Given the description of an element on the screen output the (x, y) to click on. 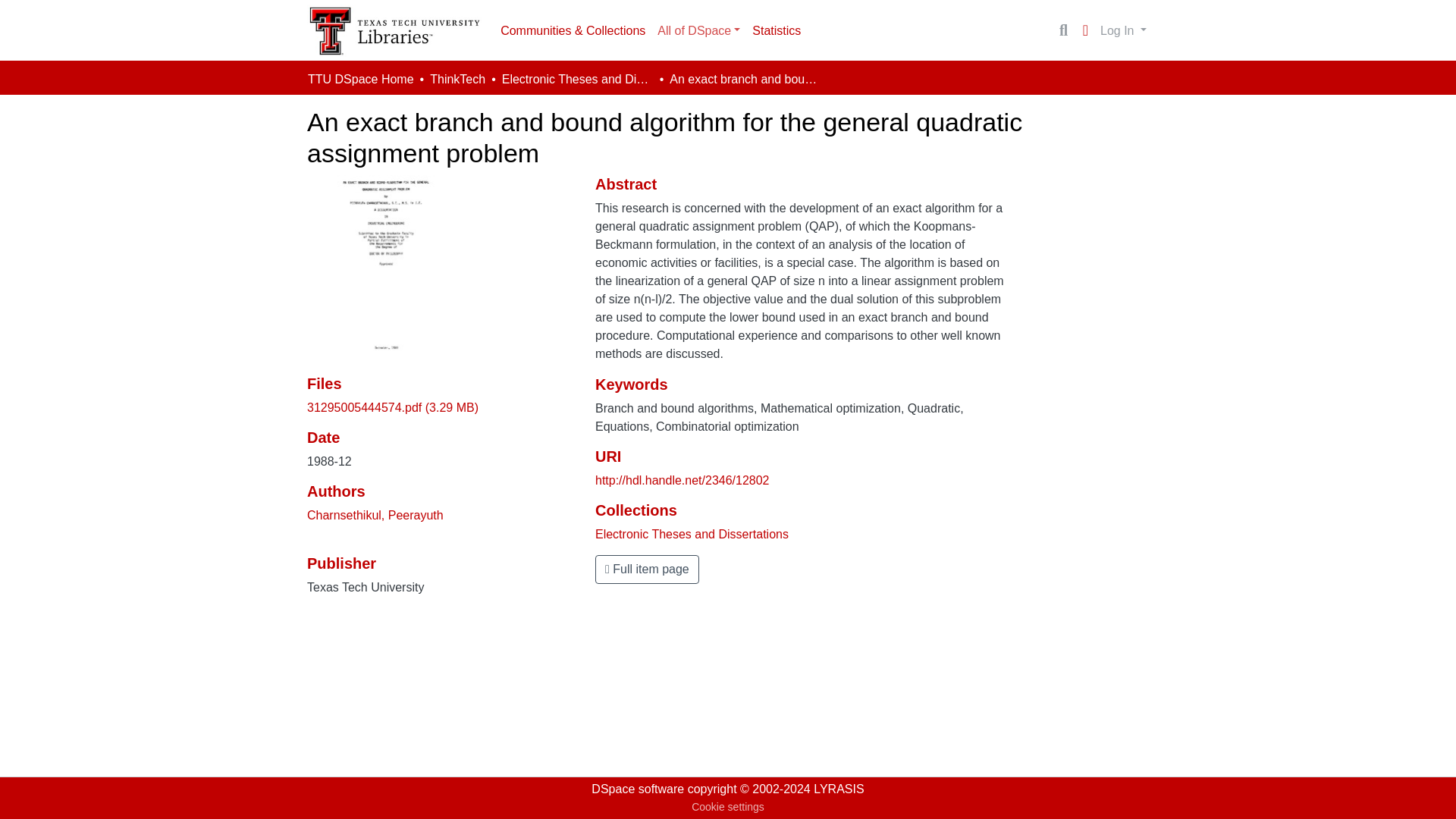
Charnsethikul, Peerayuth (375, 514)
Electronic Theses and Dissertations (692, 533)
Full item page (646, 569)
DSpace software (637, 788)
TTU DSpace Home (360, 79)
LYRASIS (838, 788)
ThinkTech (456, 79)
Statistics (775, 30)
Electronic Theses and Dissertations (577, 79)
Search (1063, 30)
All of DSpace (697, 30)
Log In (1122, 30)
Statistics (775, 30)
Cookie settings (727, 806)
Language switch (1084, 30)
